Given the description of an element on the screen output the (x, y) to click on. 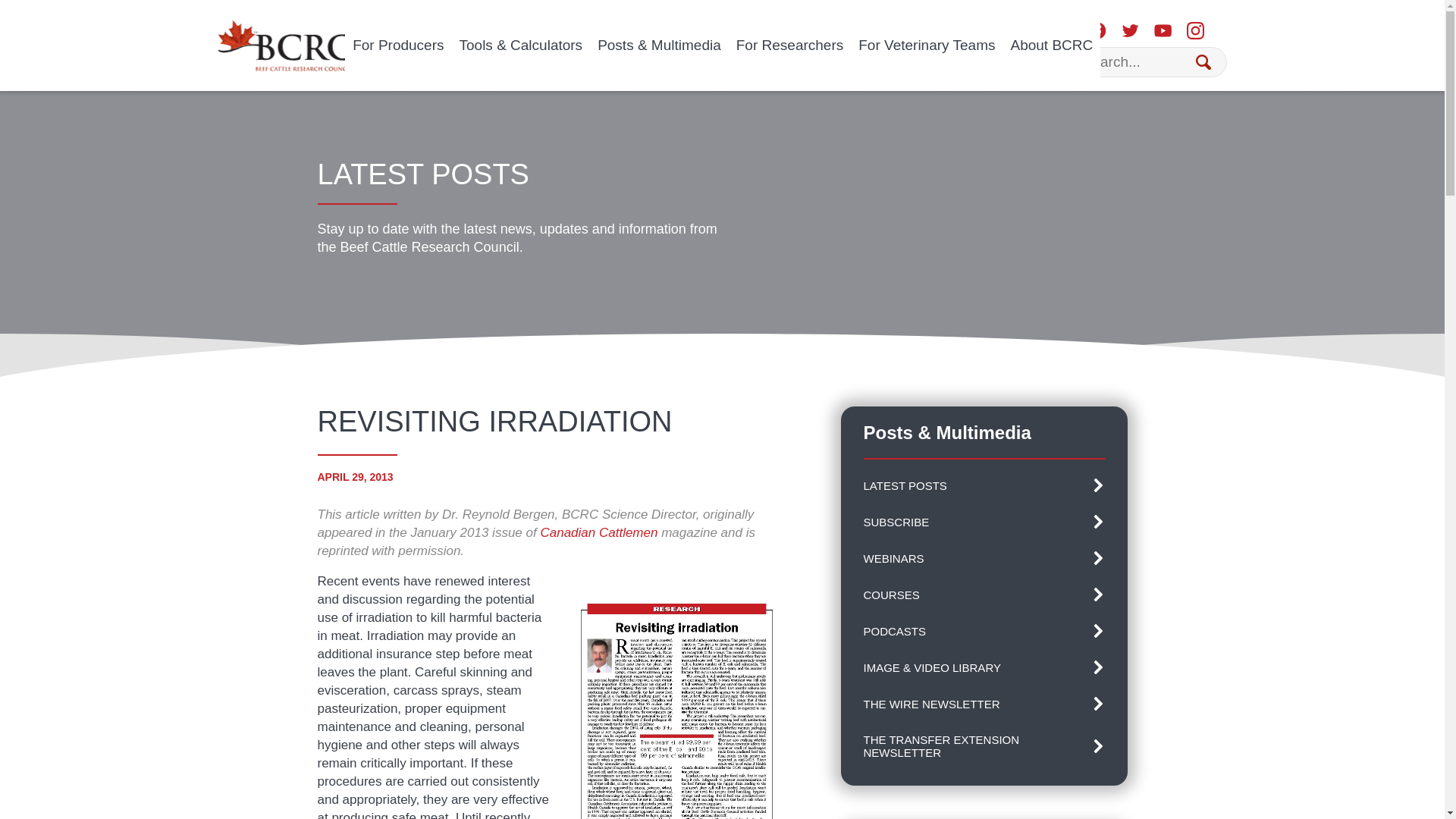
For Producers (398, 45)
Beef Research (282, 43)
For Producers (398, 45)
BCRC (282, 44)
